Given the description of an element on the screen output the (x, y) to click on. 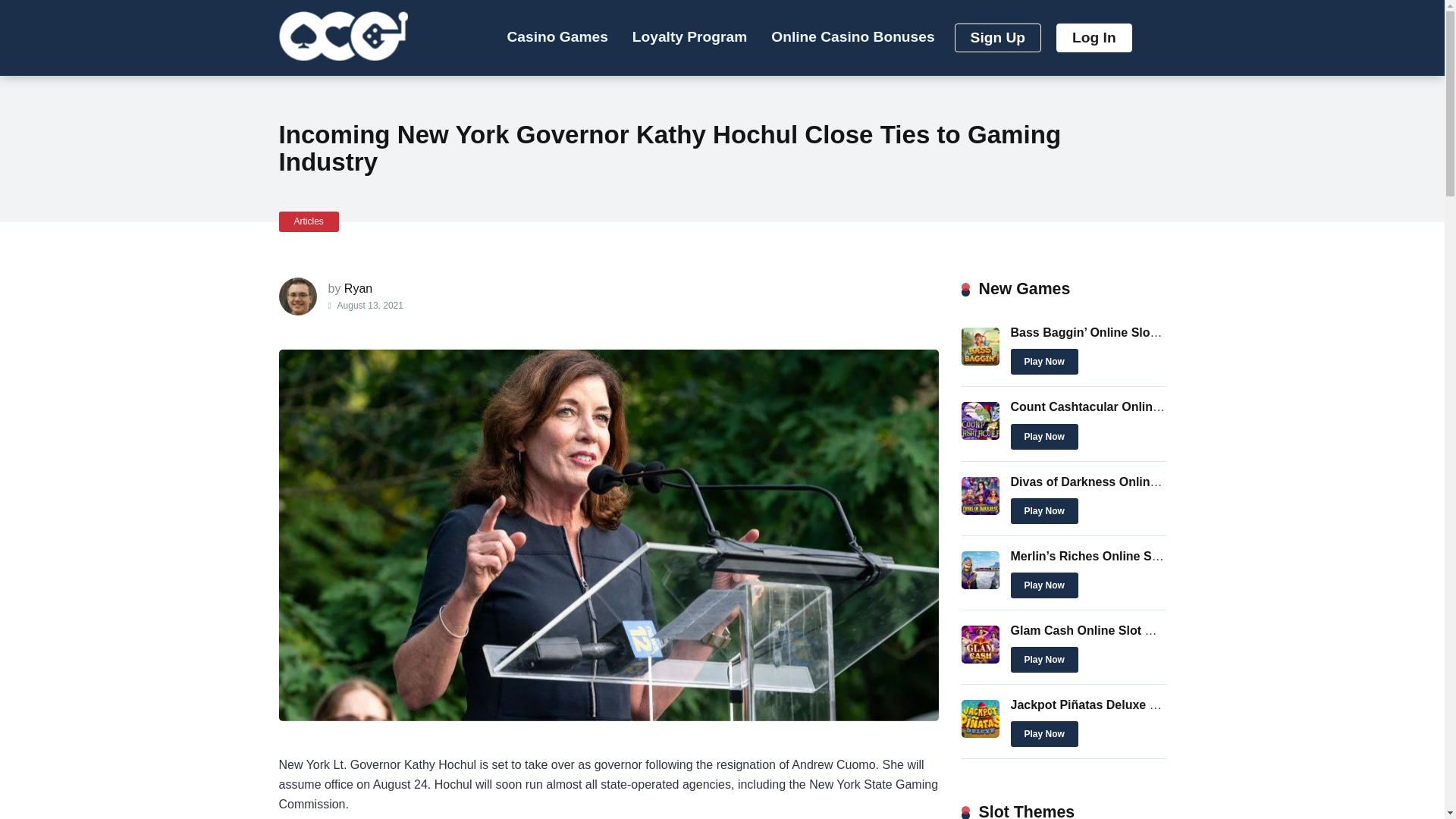
Play Now (1043, 659)
Count Cashtacular Online Slot Game Review (979, 435)
Play Now (1043, 361)
Play Now (1043, 435)
Posts by Ryan (357, 287)
Glam Cash Online Slot Game Review (1116, 630)
Articles (309, 221)
Divas of Darkness Online Slot Game Review (1137, 481)
Online Casino Games (343, 32)
Log In (1094, 37)
